Given the description of an element on the screen output the (x, y) to click on. 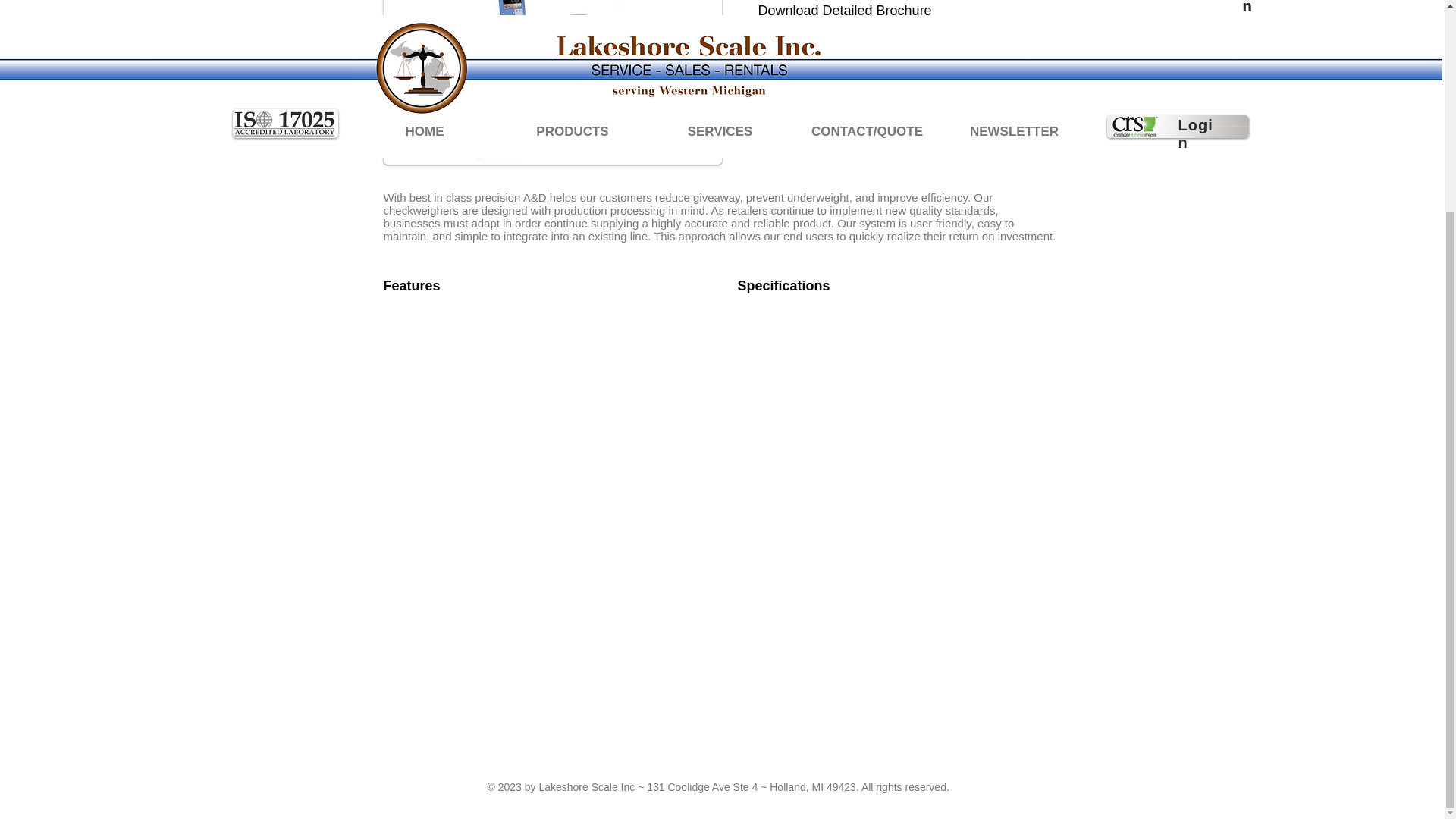
Inspection (553, 82)
Get Customized Quote (860, 126)
